Given the description of an element on the screen output the (x, y) to click on. 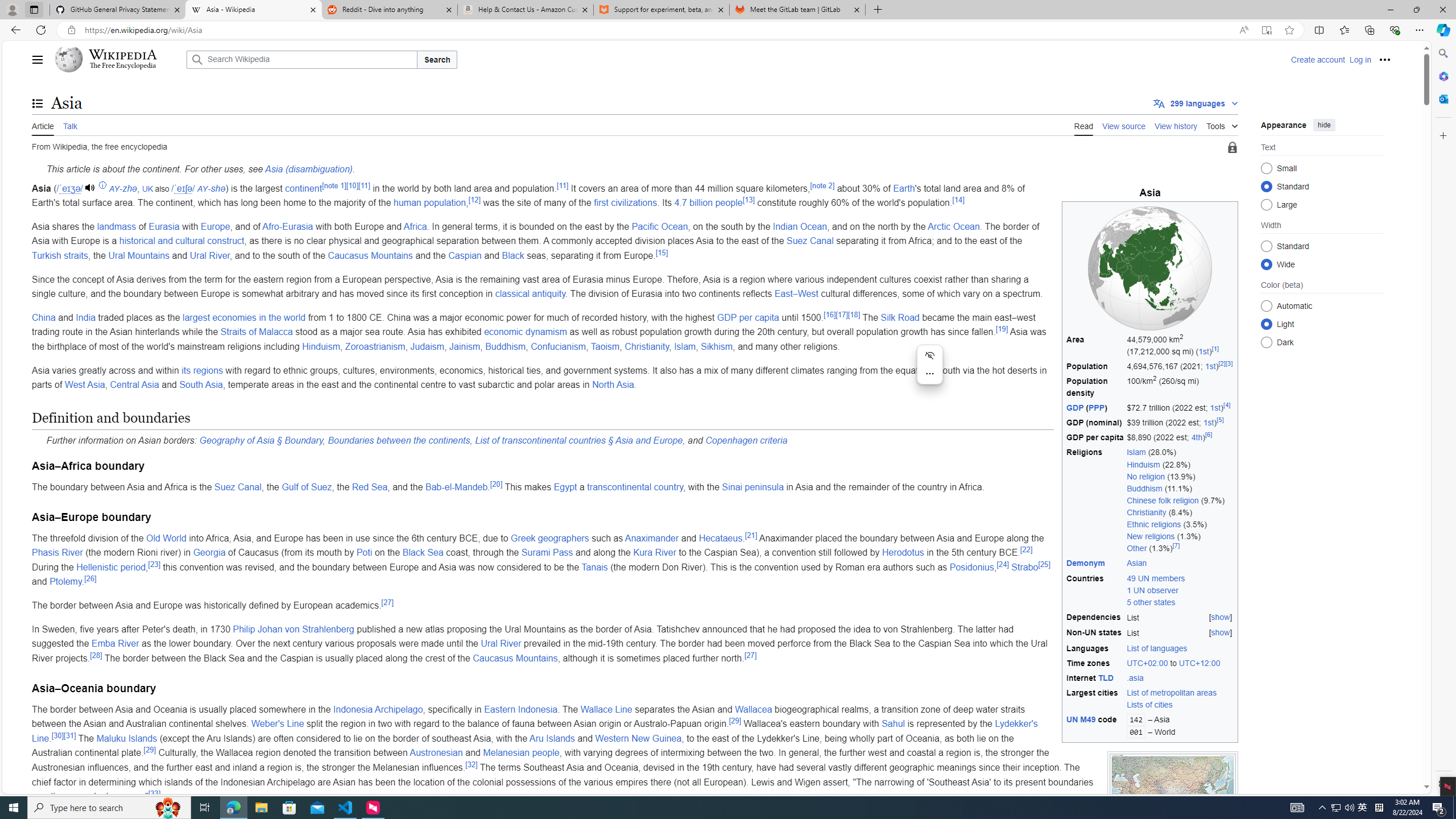
GDP (nominal) (1095, 422)
Ural Mountains (138, 255)
[15] (661, 252)
List of metropolitan areas (1171, 692)
Poti (364, 552)
[6] (1208, 434)
Gulf of Suez (306, 486)
$39 trillion (2022 est; 1st)[5] (1179, 422)
Chinese folk religion (1162, 500)
Lydekker's Line (535, 731)
[19] (1002, 329)
Article (42, 124)
List of metropolitan areas (1180, 693)
Eastern Indonesia (520, 709)
